Given the description of an element on the screen output the (x, y) to click on. 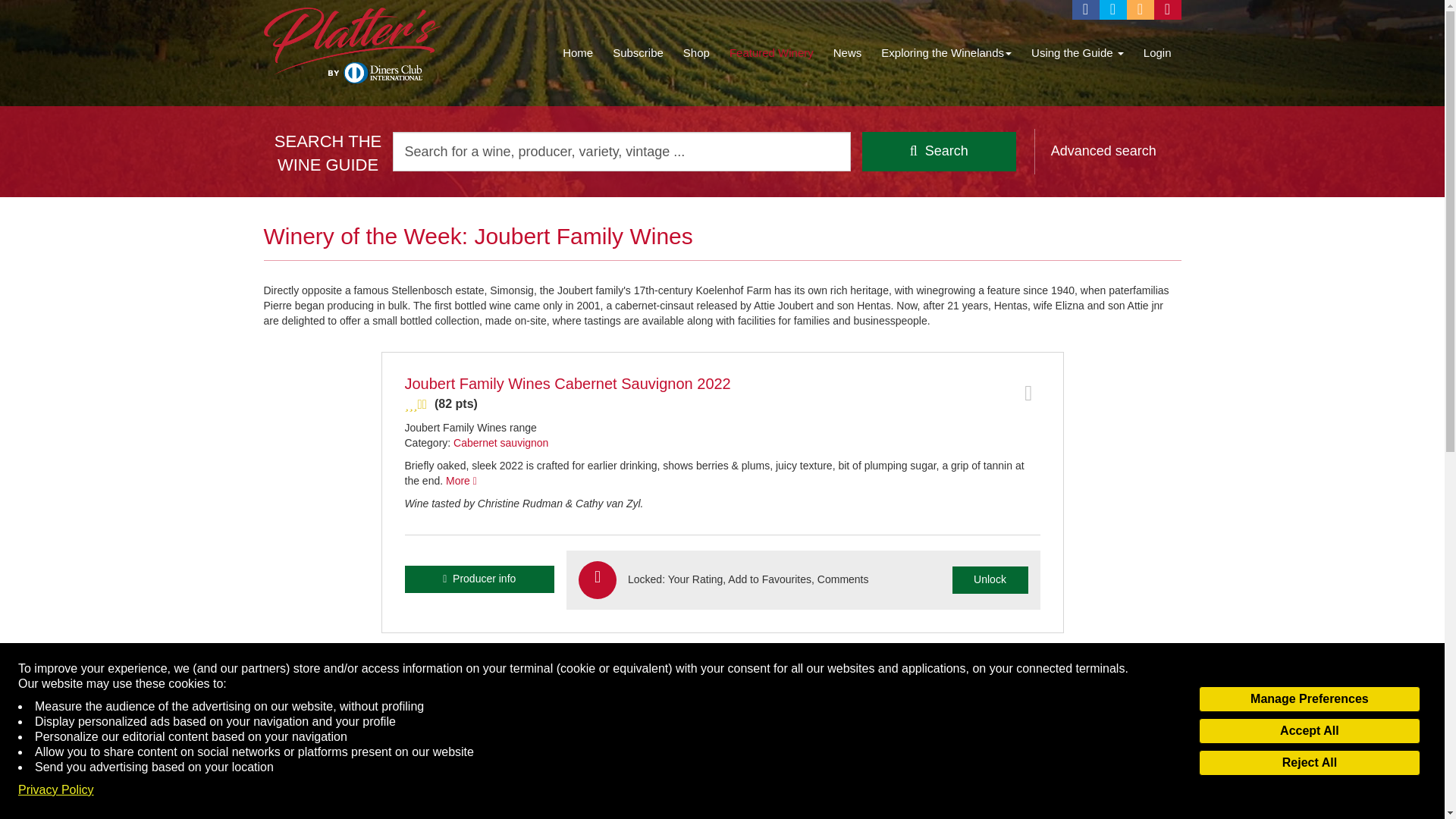
  Search (938, 151)
Subscribe (637, 52)
Follow us on Instagram (1140, 9)
Home (577, 52)
Subscribe to our newsletter (1167, 9)
Good everyday drinking (722, 708)
Login (1157, 52)
Featured Winery (771, 52)
Exploring the Winelands (946, 52)
Cabernet sauvignon (500, 442)
Joubert Family Wines Cabernet Sauvignon 2022 (567, 383)
Characterful, appealing (722, 404)
Accept All (1309, 730)
Follow us on Facebook (1085, 9)
Using the Guide (1078, 52)
